Given the description of an element on the screen output the (x, y) to click on. 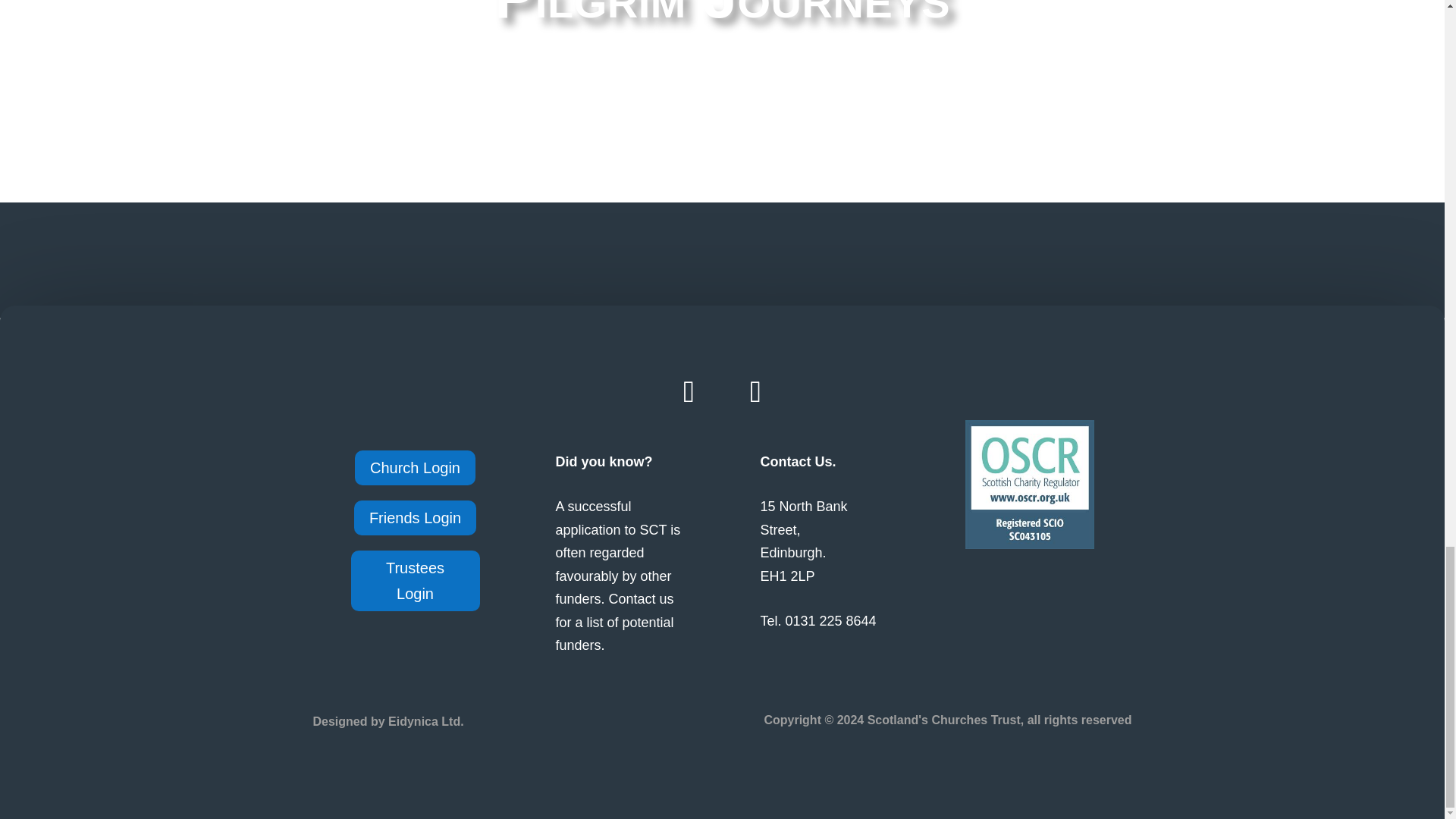
Follow on Facebook (688, 391)
small-blue (1028, 484)
Follow on Twitter (755, 391)
